Given the description of an element on the screen output the (x, y) to click on. 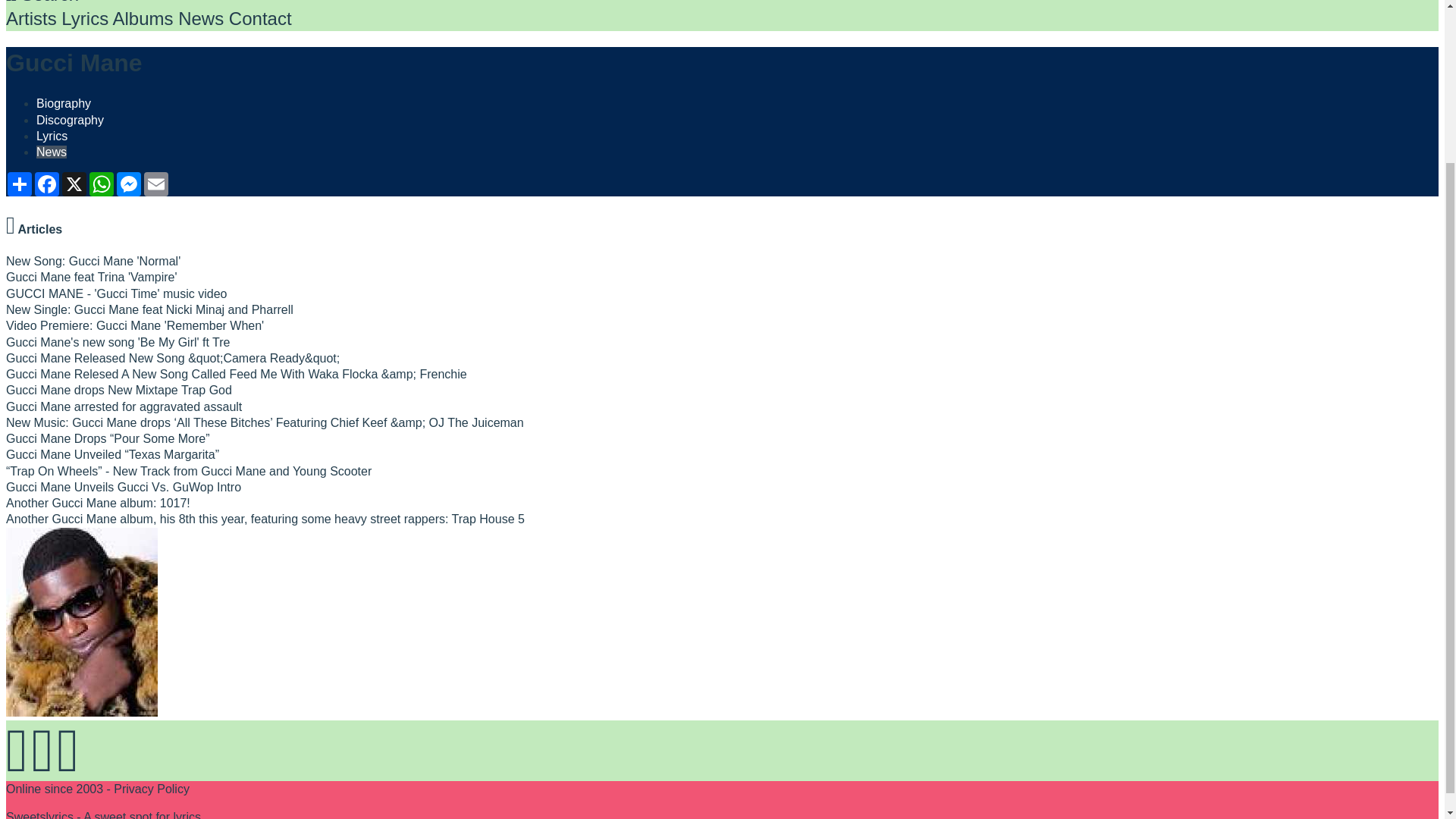
News (51, 151)
Gucci Mane arrested for aggravated assault (123, 406)
Mail link (156, 183)
Share on Whatsapp (101, 183)
News (200, 18)
X (74, 183)
Share on Messenger (128, 183)
Video Premiere: Gucci Mane 'Remember When' (134, 325)
Share (19, 183)
Facebook (47, 183)
Search (41, 2)
Follow us on Twitter (42, 766)
Follow us on Instagram (67, 766)
Email (156, 183)
GUCCI MANE - 'Gucci Time' music video (116, 293)
